Given the description of an element on the screen output the (x, y) to click on. 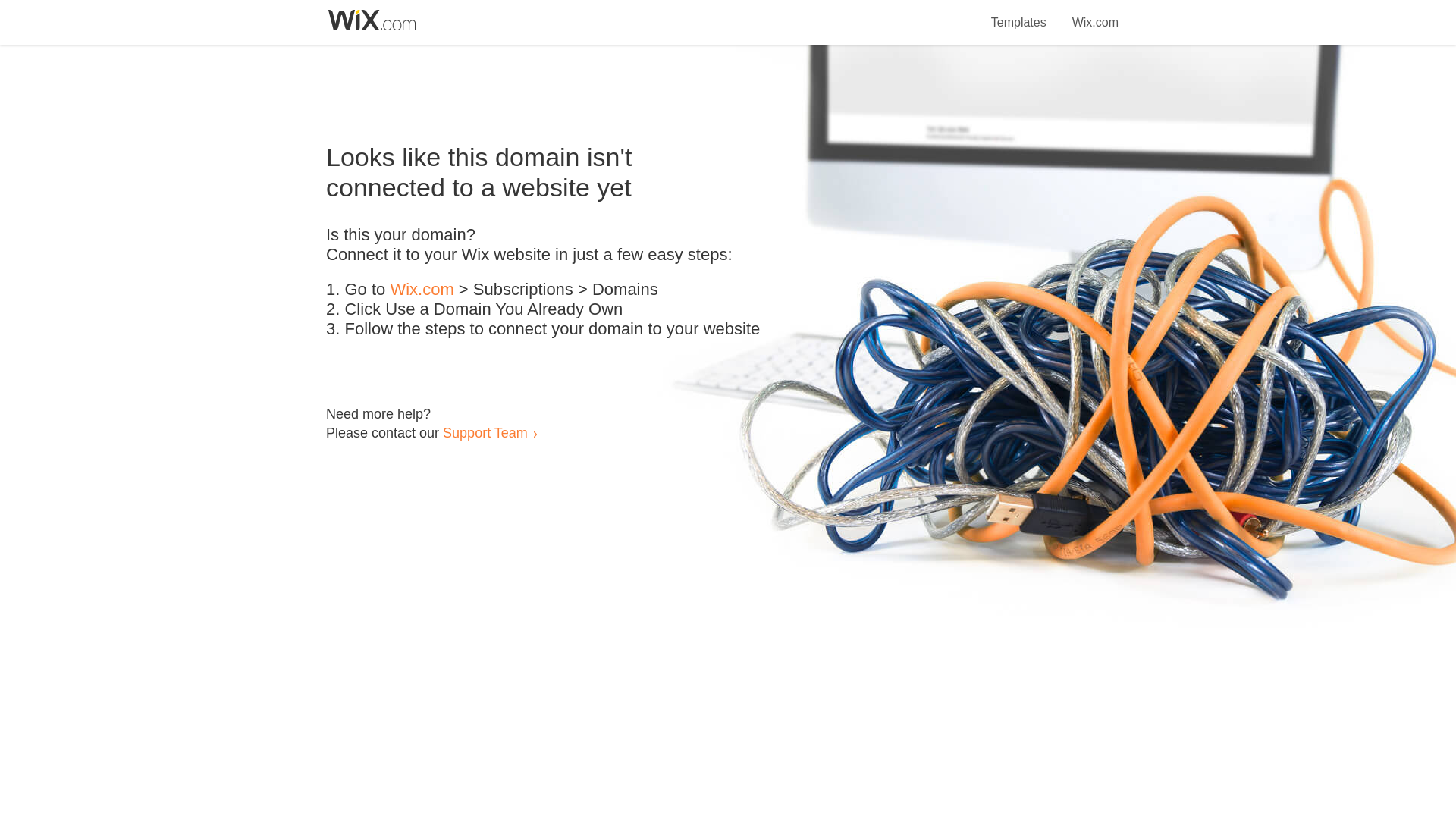
Wix.com (1095, 14)
Templates (1018, 14)
Wix.com (421, 289)
Support Team (484, 432)
